Given the description of an element on the screen output the (x, y) to click on. 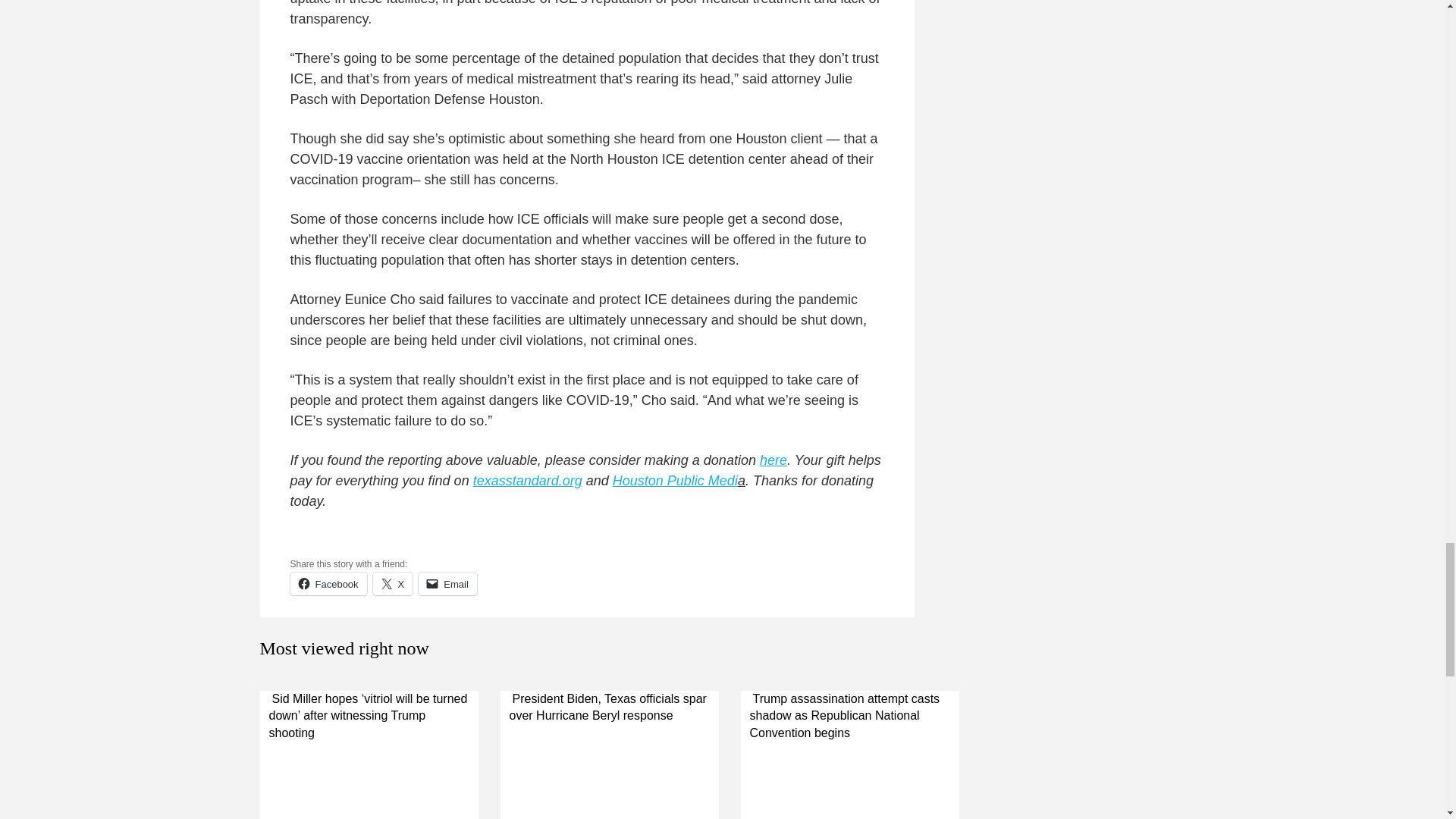
Click to share on Facebook (327, 583)
Click to share on X (392, 583)
Click to email a link to a friend (448, 583)
